Given the description of an element on the screen output the (x, y) to click on. 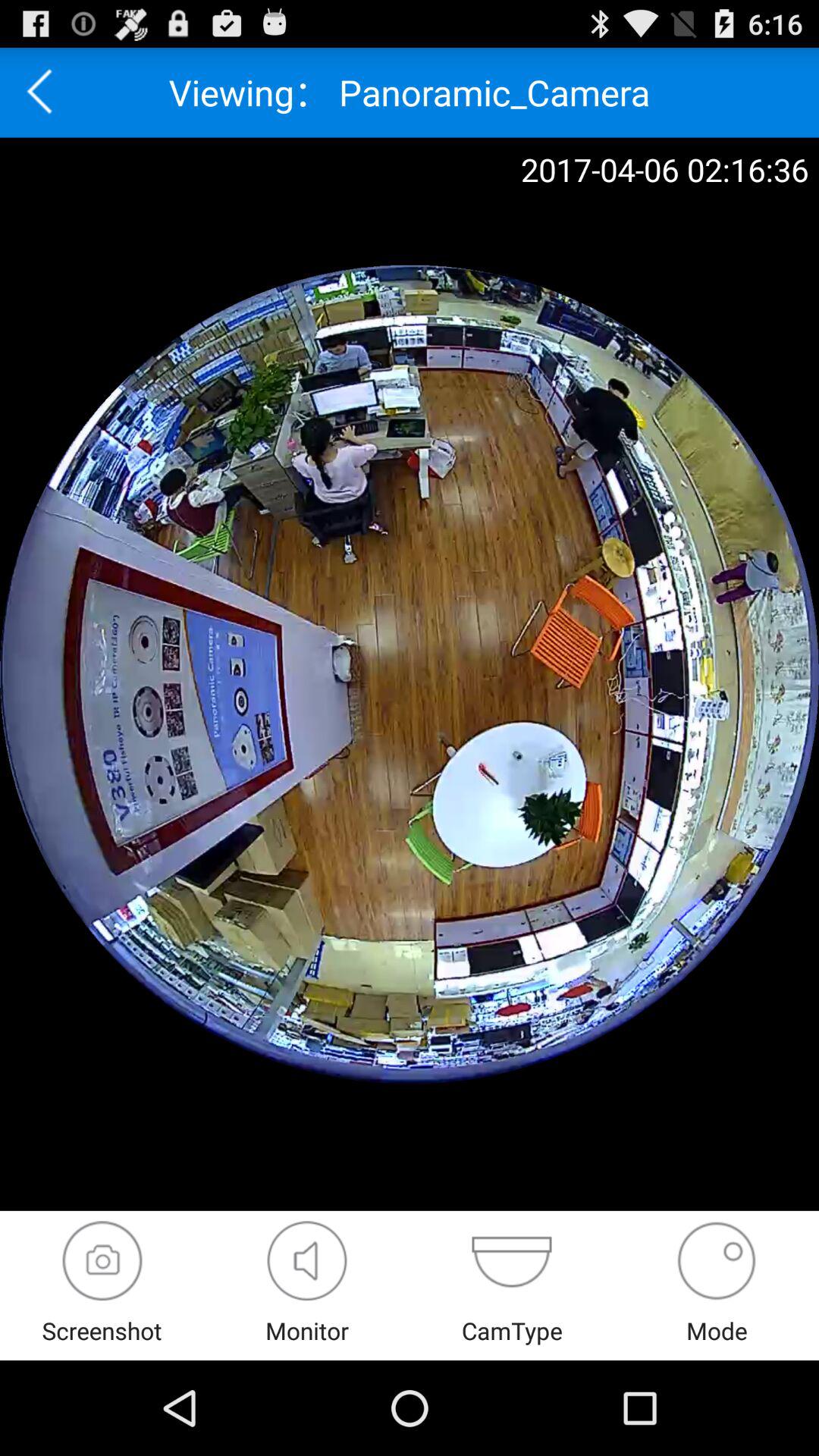
select mode (716, 1260)
